Given the description of an element on the screen output the (x, y) to click on. 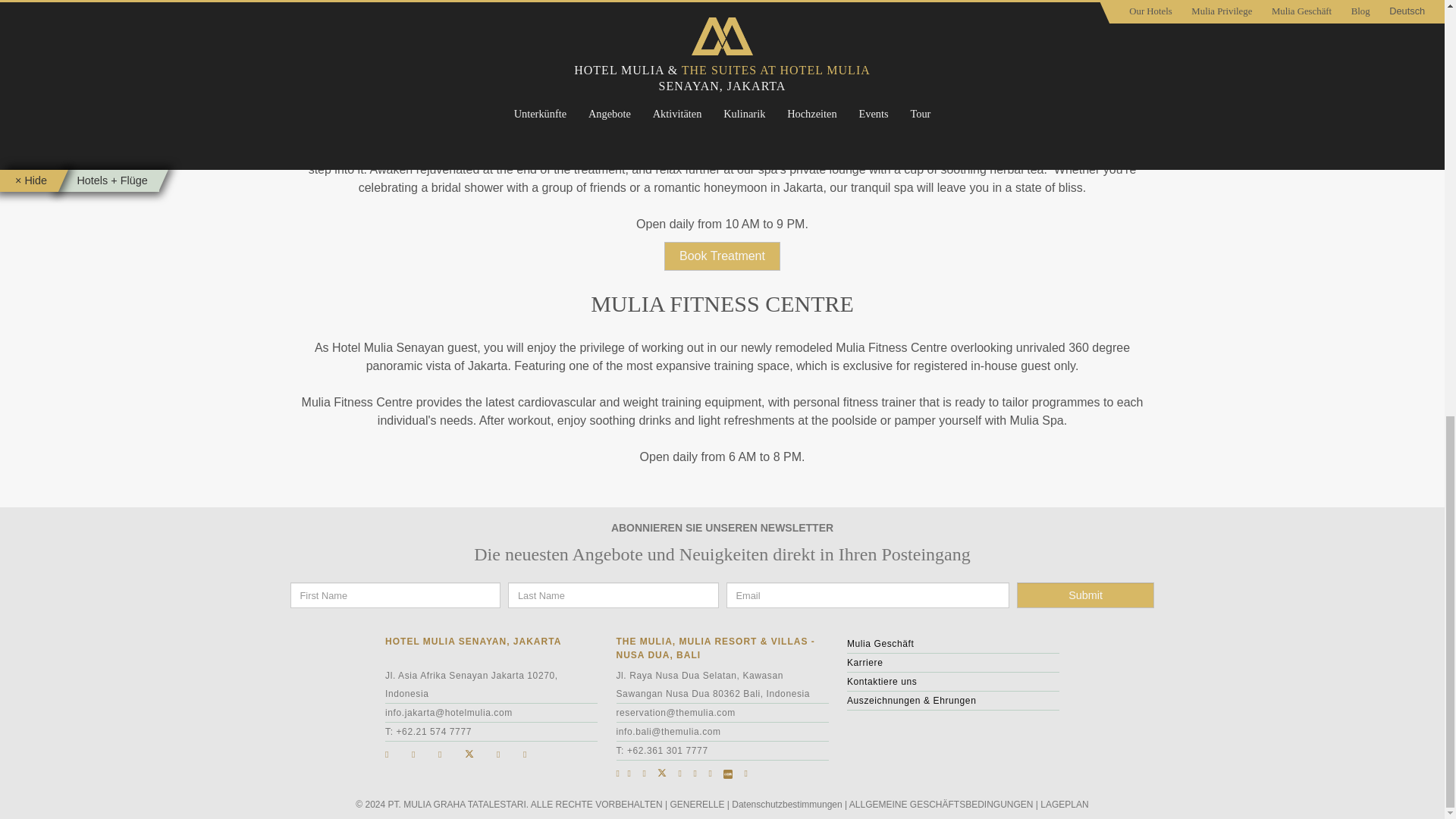
Submit (1085, 595)
